Given the description of an element on the screen output the (x, y) to click on. 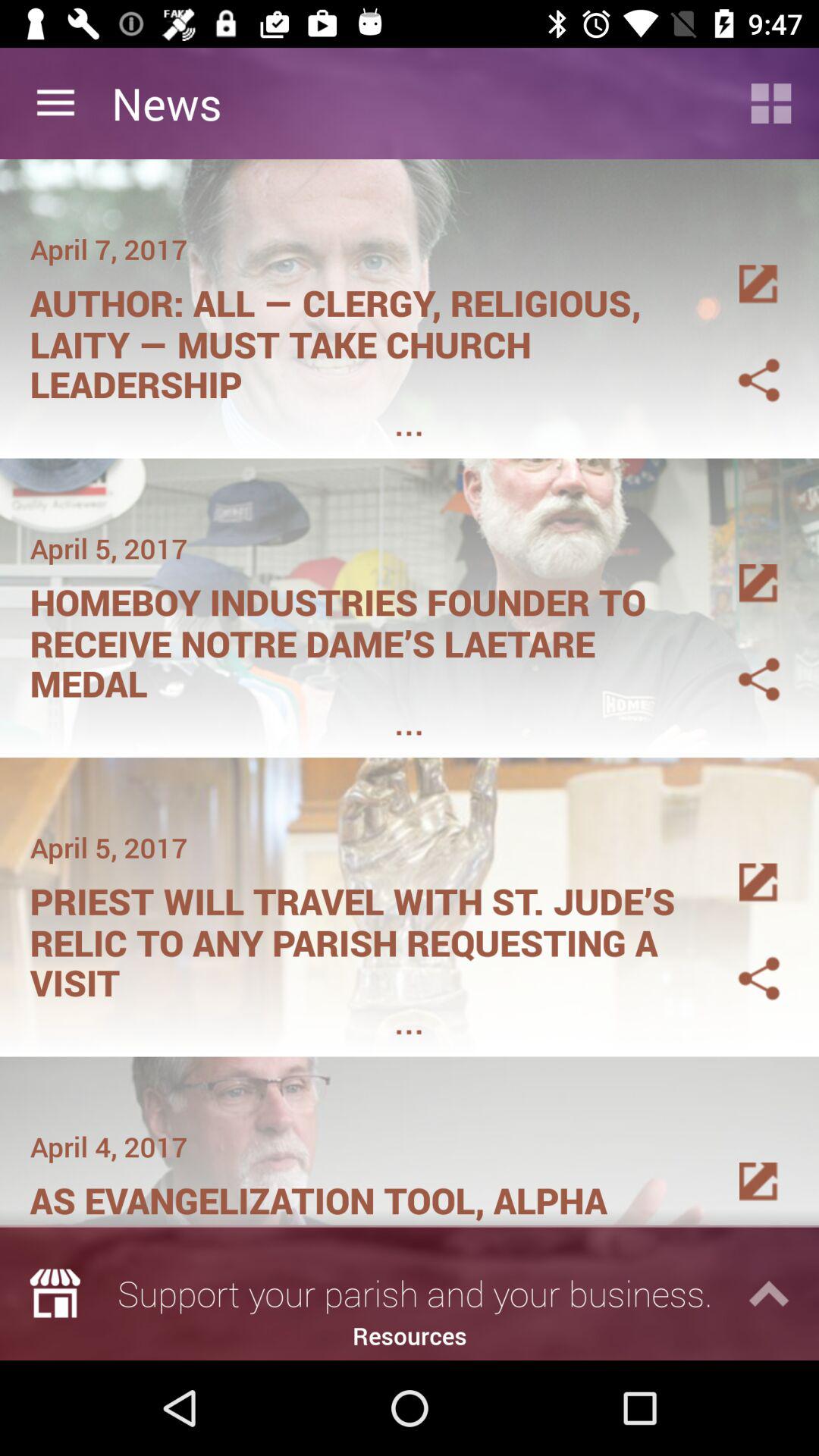
share the article (740, 565)
